Given the description of an element on the screen output the (x, y) to click on. 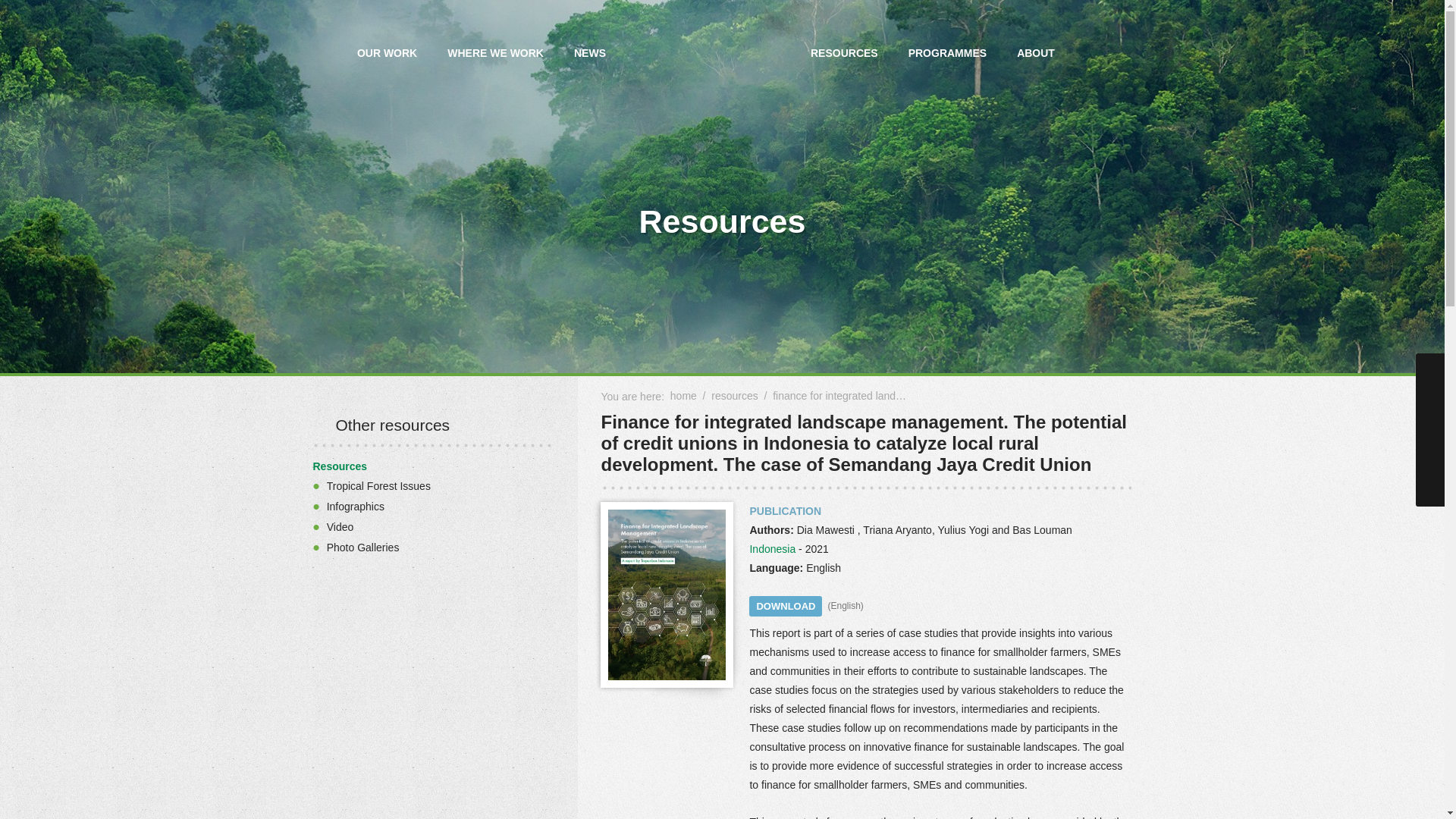
Infographics (355, 506)
Infographics (355, 506)
NEWS (590, 54)
News (590, 54)
Resources (843, 54)
RESOURCES (843, 54)
Video (339, 526)
resources (734, 395)
Photo Galleries (362, 547)
Resources (339, 466)
Indonesia (771, 548)
home (683, 395)
Video (339, 526)
PROGRAMMES (947, 54)
About (1035, 54)
